Given the description of an element on the screen output the (x, y) to click on. 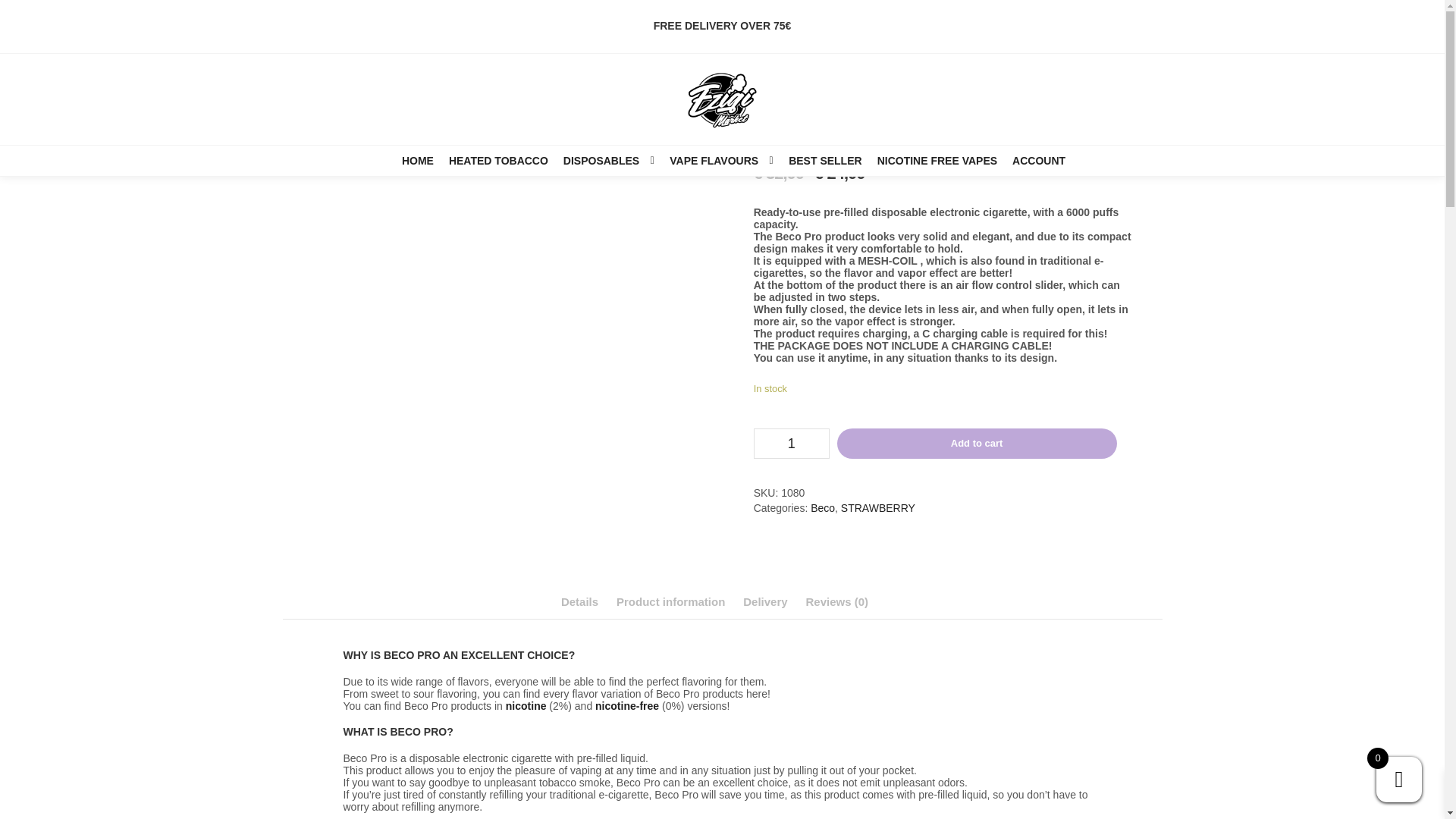
HEATED TOBACCO (498, 160)
1 (791, 443)
HOME (417, 160)
Delivery (764, 601)
Details (579, 601)
BEST SELLER (824, 160)
DISPOSABLES (599, 160)
nicotine-free (627, 705)
NICOTINE FREE VAPES (936, 160)
nicotine (526, 705)
ACCOUNT (1038, 160)
Add to cart (976, 443)
VAPE FLAVOURS (711, 160)
STRAWBERRY (878, 508)
Beco (822, 508)
